Given the description of an element on the screen output the (x, y) to click on. 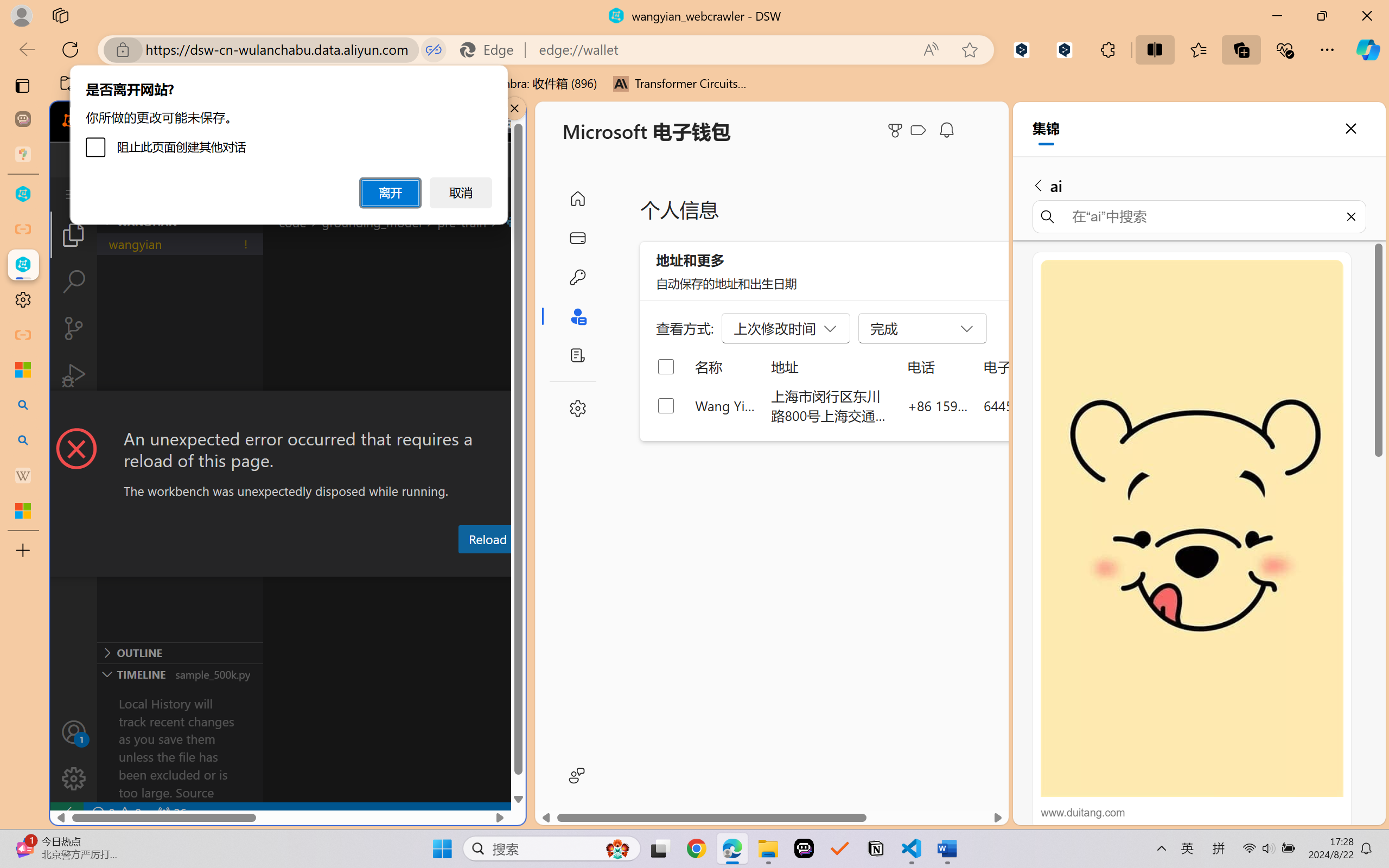
Run and Debug (Ctrl+Shift+D) (73, 375)
Problems (Ctrl+Shift+M) (308, 565)
Google Chrome (696, 848)
Copilot (Ctrl+Shift+.) (1368, 49)
Class: ___1lmltc5 f1agt3bx f12qytpq (917, 130)
